Given the description of an element on the screen output the (x, y) to click on. 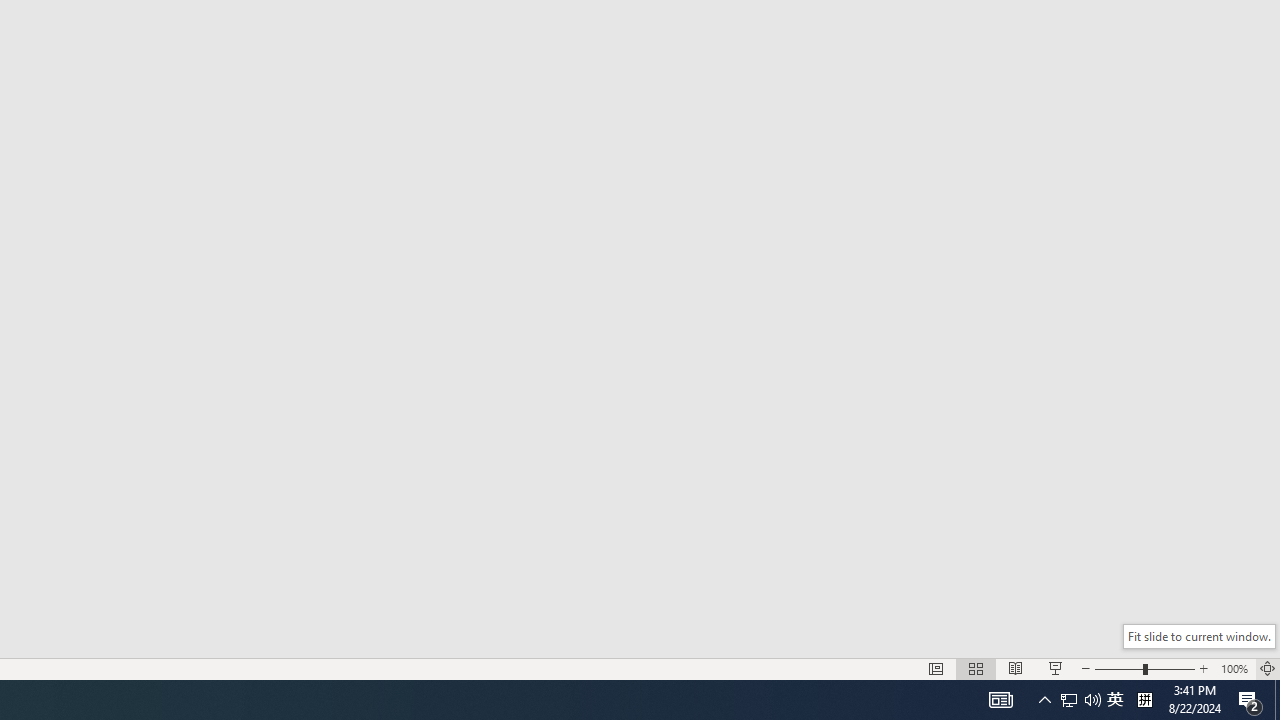
Zoom 100% (1234, 668)
Fit slide to current window. (1199, 636)
